Given the description of an element on the screen output the (x, y) to click on. 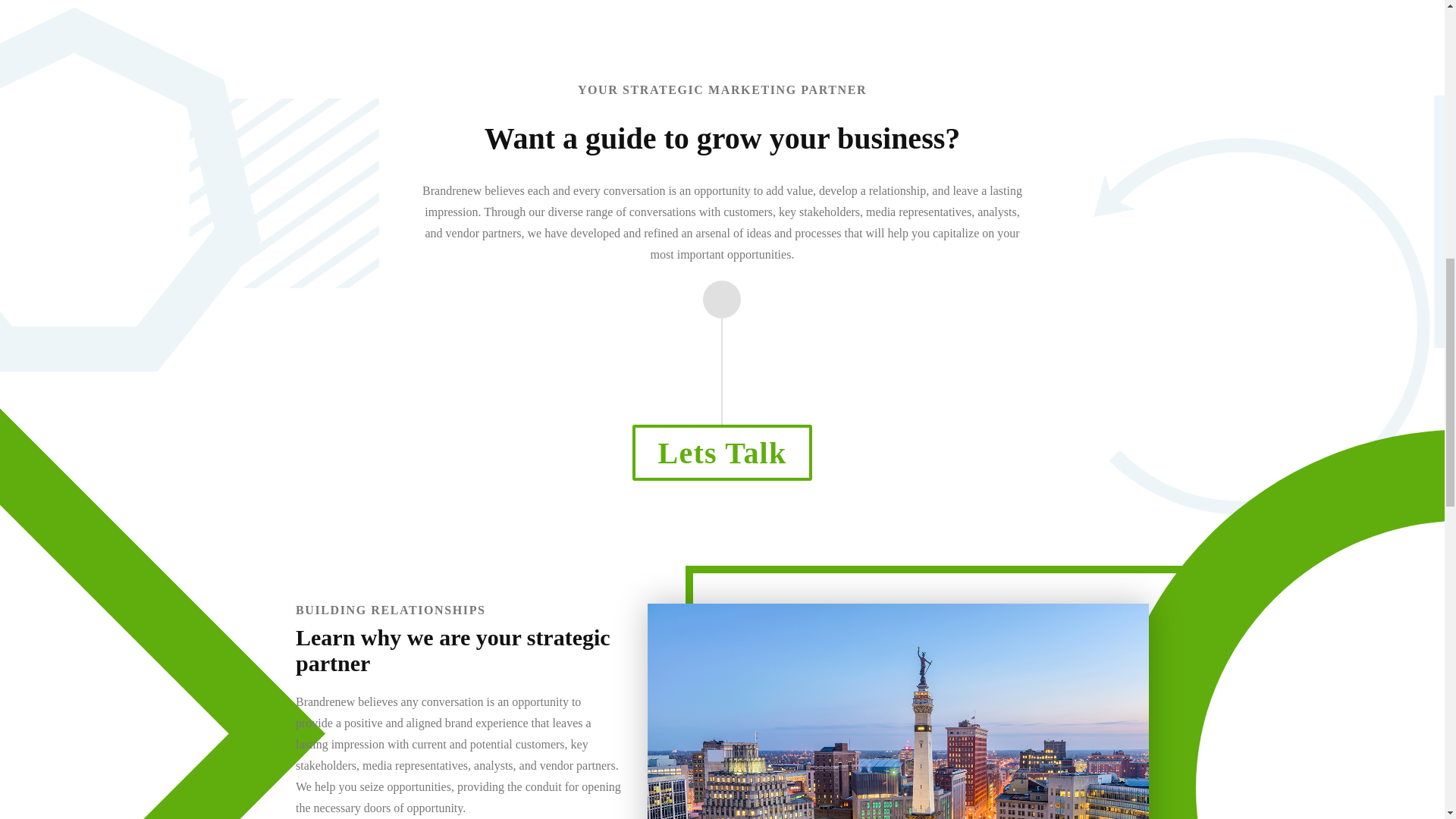
Lets Talk (721, 452)
